Given the description of an element on the screen output the (x, y) to click on. 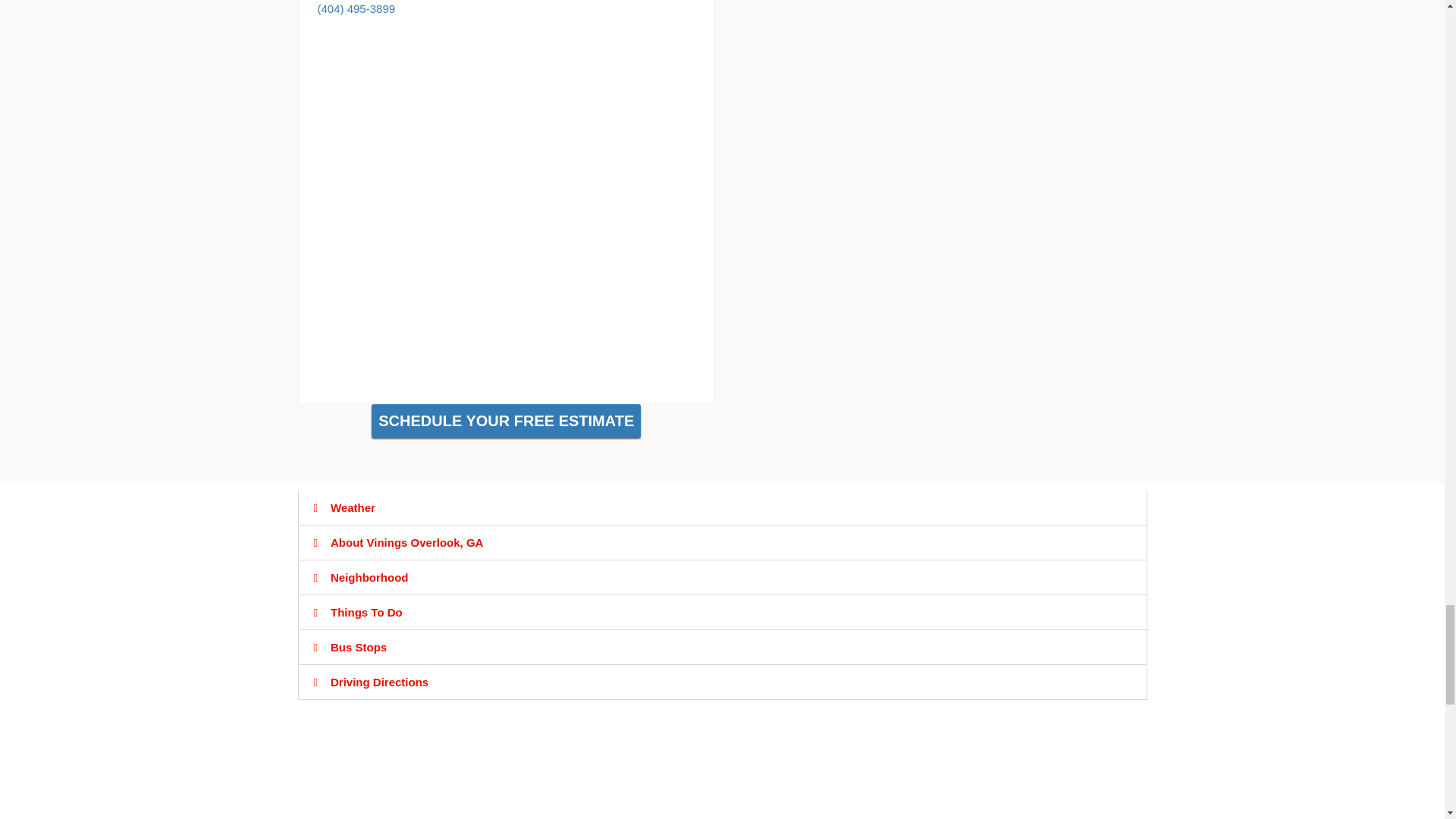
SCHEDULE YOUR FREE ESTIMATE (505, 420)
Driving Directions (379, 681)
About Vinings Overlook, GA (406, 542)
Weather (352, 507)
Neighborhood (368, 576)
Bus Stops (358, 646)
Things To Do (366, 612)
